Given the description of an element on the screen output the (x, y) to click on. 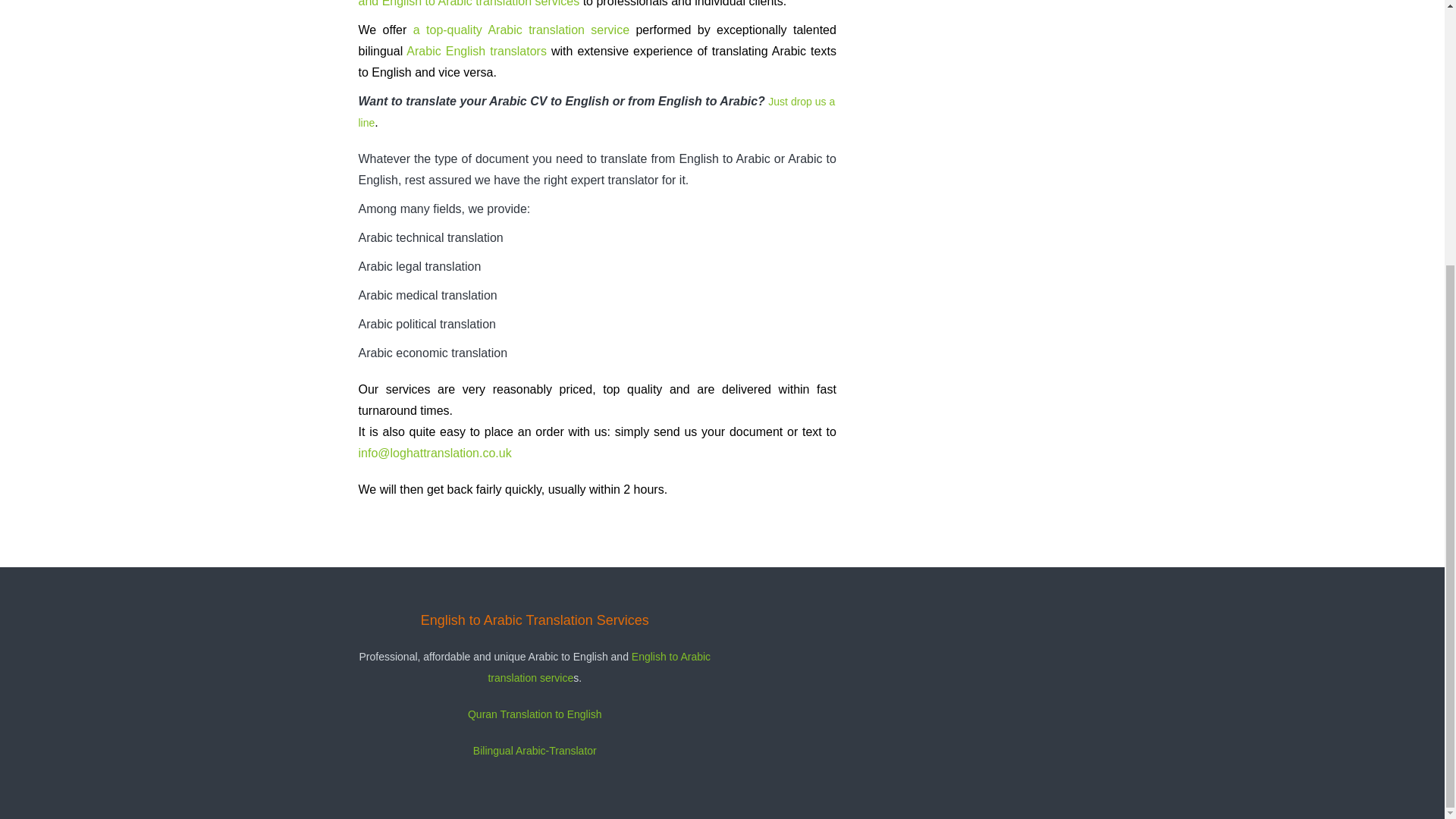
Arabic to English and English to Arabic translation services (596, 3)
English to Arabic translation service (598, 666)
a top-quality Arabic translation service (520, 30)
Arabic English translators (476, 51)
Bilingual Arabic-Translator (534, 750)
Just drop us a line (596, 111)
Quran Translation to English (534, 714)
